Given the description of an element on the screen output the (x, y) to click on. 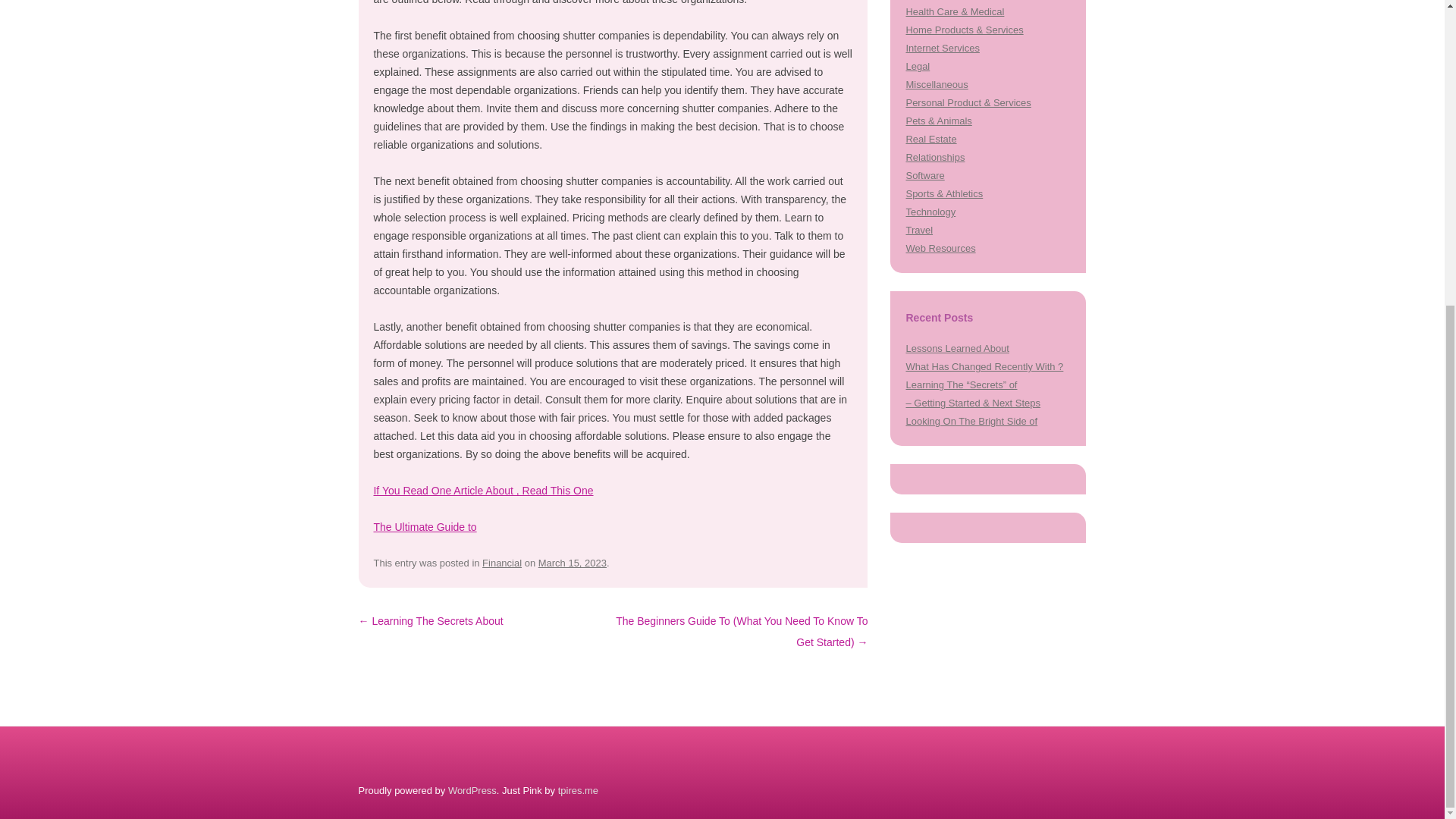
Internet Services (941, 48)
Real Estate (930, 138)
Travel (919, 229)
The Ultimate Guide to (424, 526)
Web Resources (940, 247)
Legal (917, 66)
Miscellaneous (936, 84)
Semantic Personal Publishing Platform (472, 790)
March 15, 2023 (572, 562)
Lessons Learned About (957, 348)
